Given the description of an element on the screen output the (x, y) to click on. 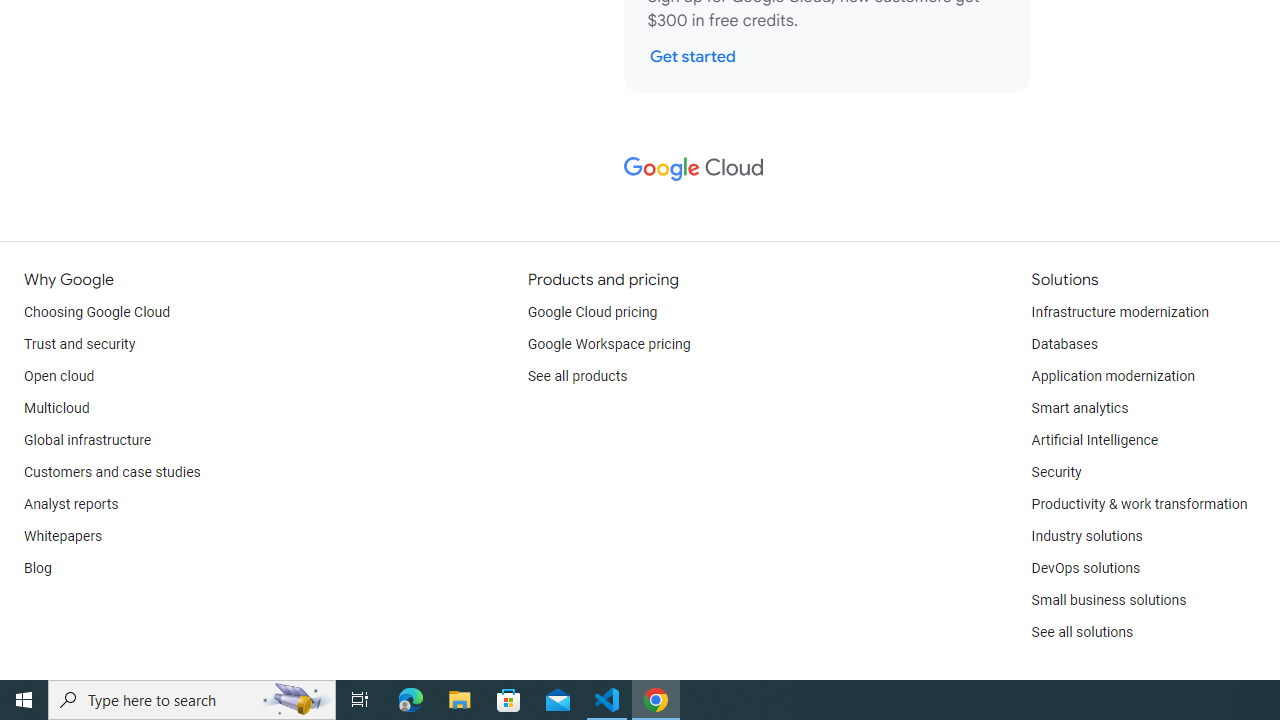
Google Cloud pricing (592, 312)
Small business solutions (1108, 600)
Analyst reports (71, 504)
Trust and security (79, 344)
Industry solutions (1086, 536)
Artificial Intelligence (1094, 440)
Open cloud (59, 376)
Blog (38, 568)
DevOps solutions (1085, 568)
Google Cloud (692, 168)
